Given the description of an element on the screen output the (x, y) to click on. 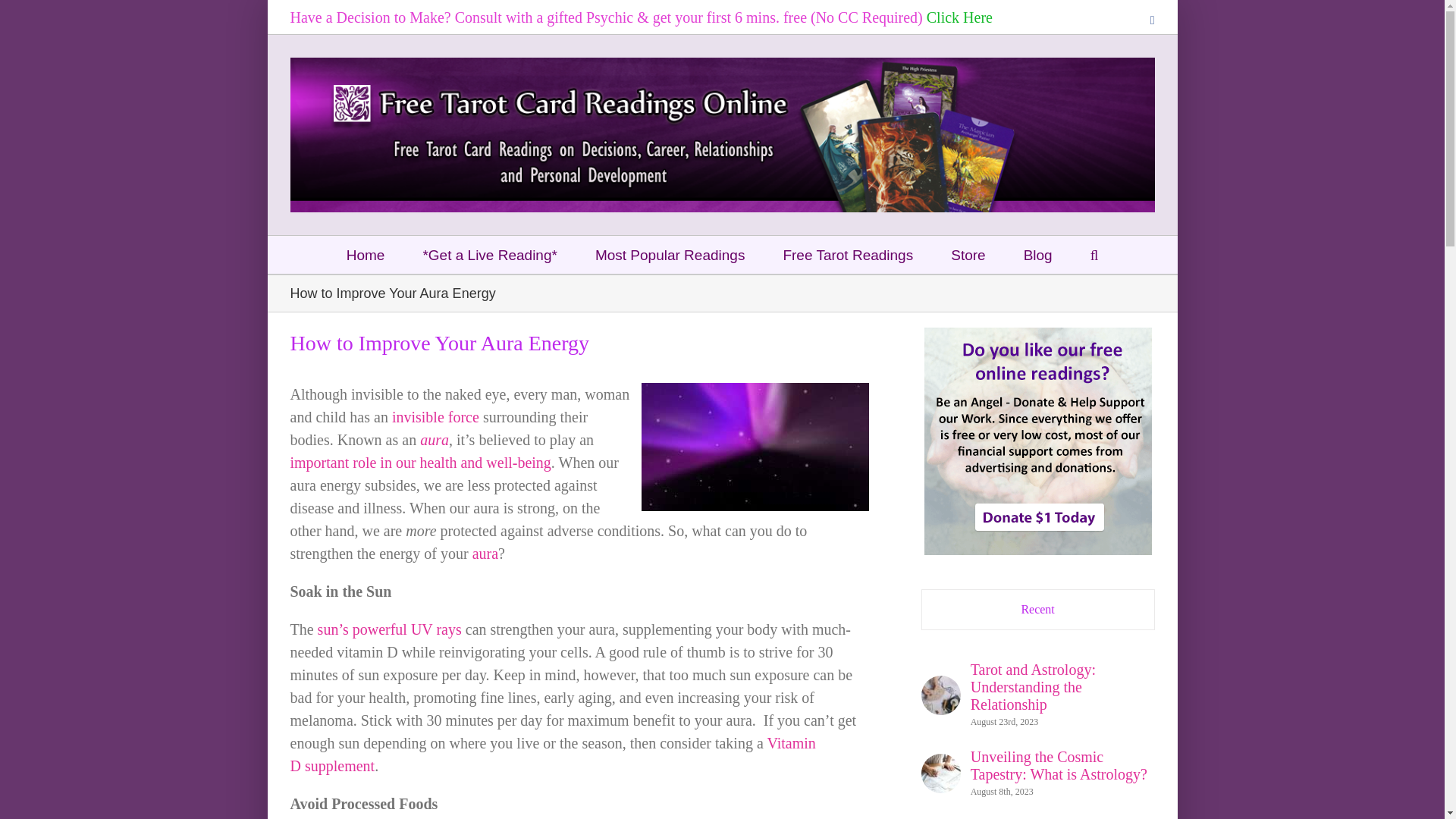
Store (967, 254)
Free Tarot Readings (847, 254)
Most Popular Readings (670, 254)
Home (365, 254)
Click Here (959, 17)
